Given the description of an element on the screen output the (x, y) to click on. 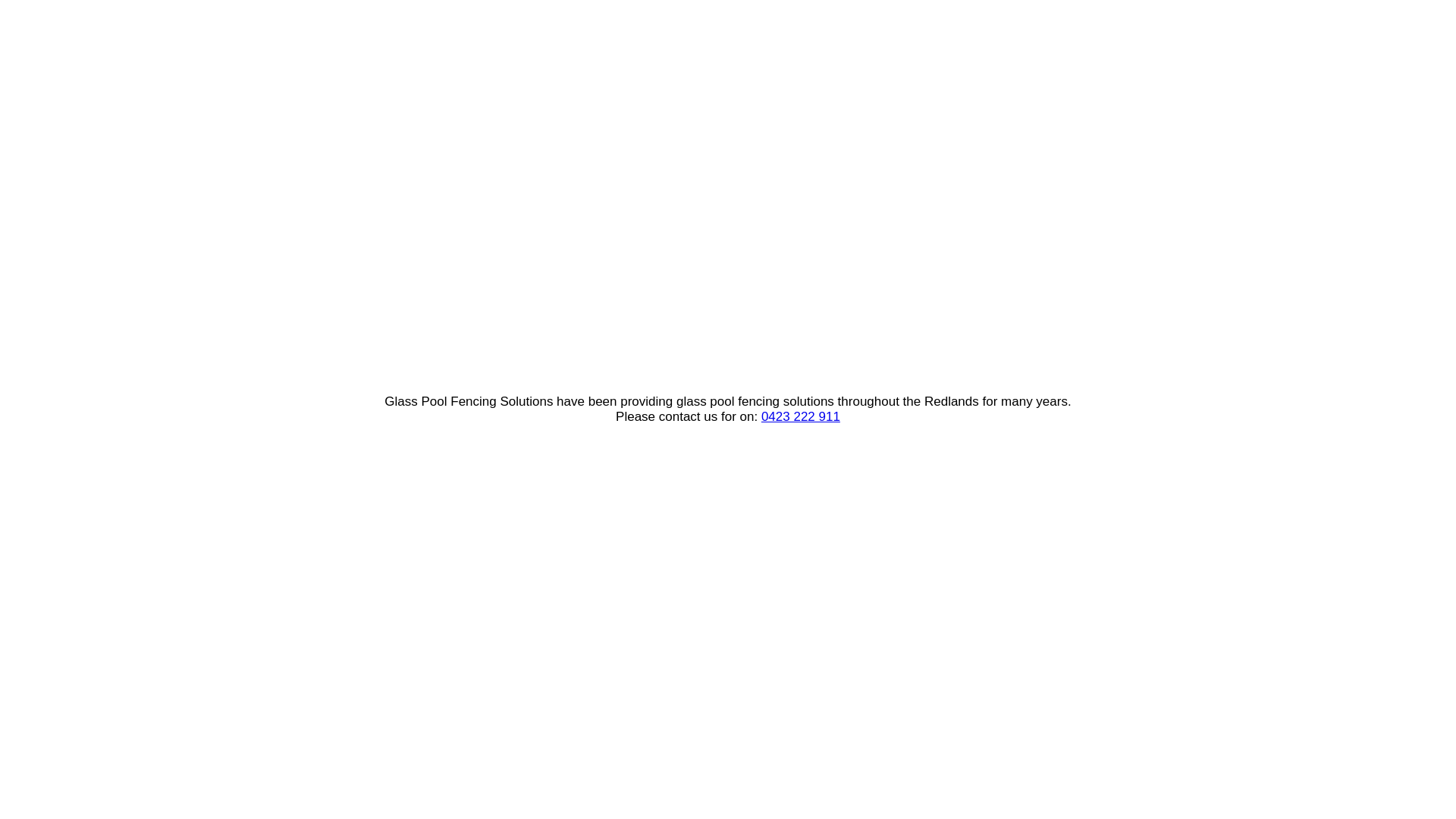
0423 222 911 Element type: text (800, 416)
